Given the description of an element on the screen output the (x, y) to click on. 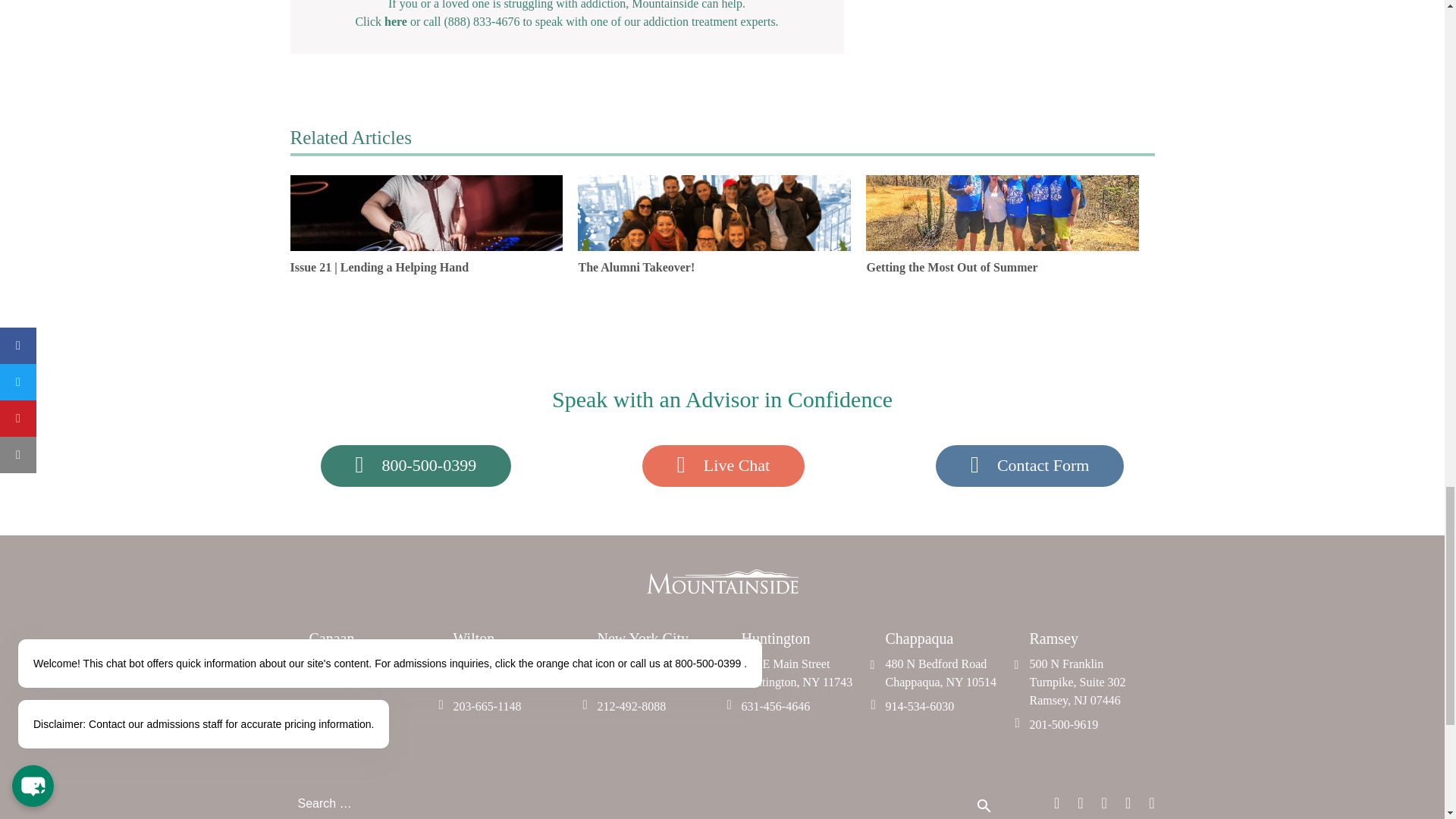
212-492-8088 (802, 673)
800-500-0399 (657, 706)
860-824-1397 (415, 465)
Contact Form (369, 706)
631-456-4646 (1030, 465)
203-665-1148 (802, 706)
Search (369, 673)
Live Chat (946, 673)
The Alumni Takeover! (513, 673)
Getting the Most Out of Summer (513, 706)
914-534-6030 (985, 807)
